Given the description of an element on the screen output the (x, y) to click on. 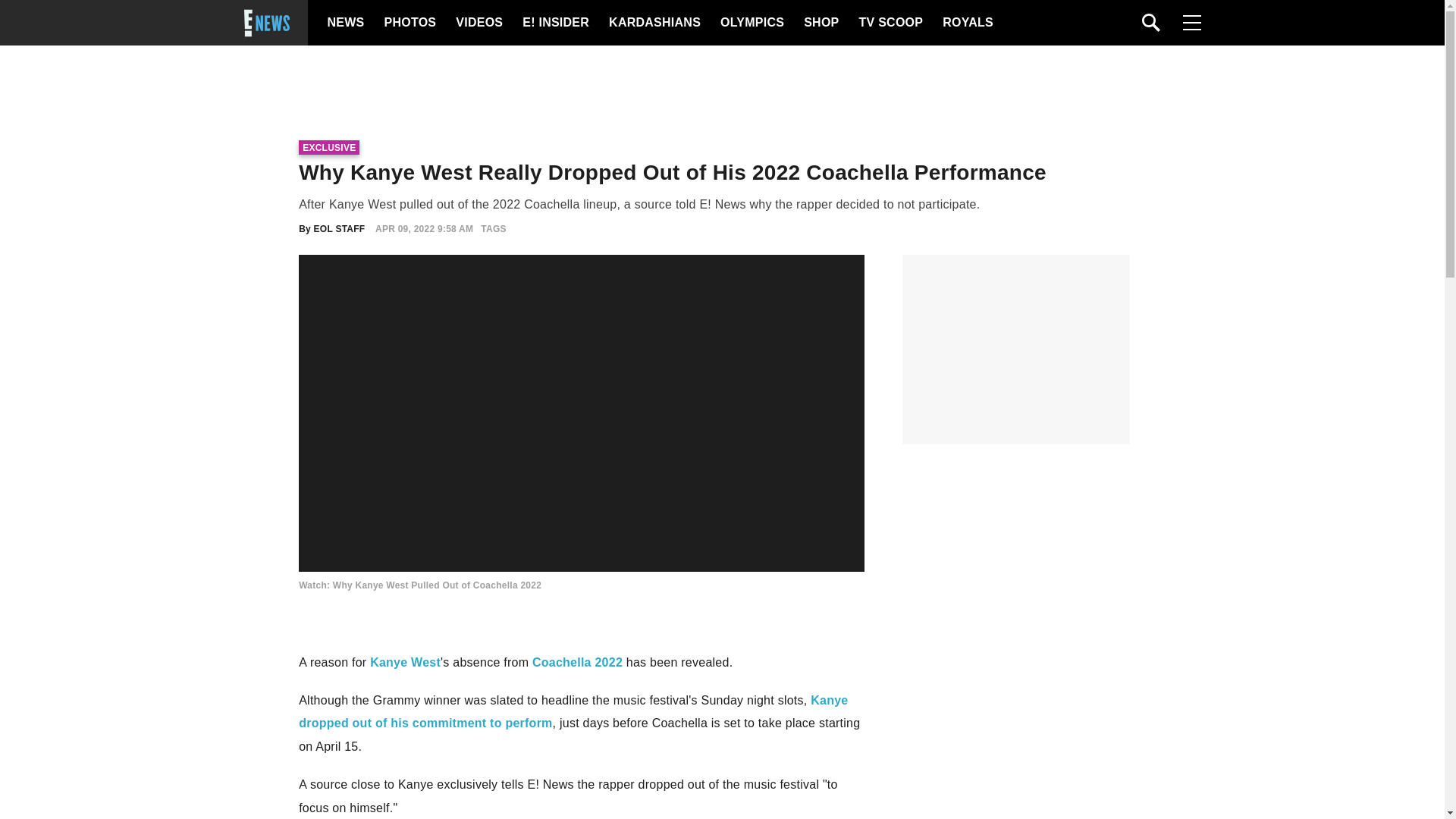
SHOP (820, 22)
Kanye dropped out of his commitment to perform (572, 711)
Kanye West (405, 662)
Coachella 2022 (577, 662)
TV SCOOP (890, 22)
KARDASHIANS (653, 22)
NEWS (345, 22)
OLYMPICS (751, 22)
PHOTOS (408, 22)
VIDEOS (478, 22)
